Given the description of an element on the screen output the (x, y) to click on. 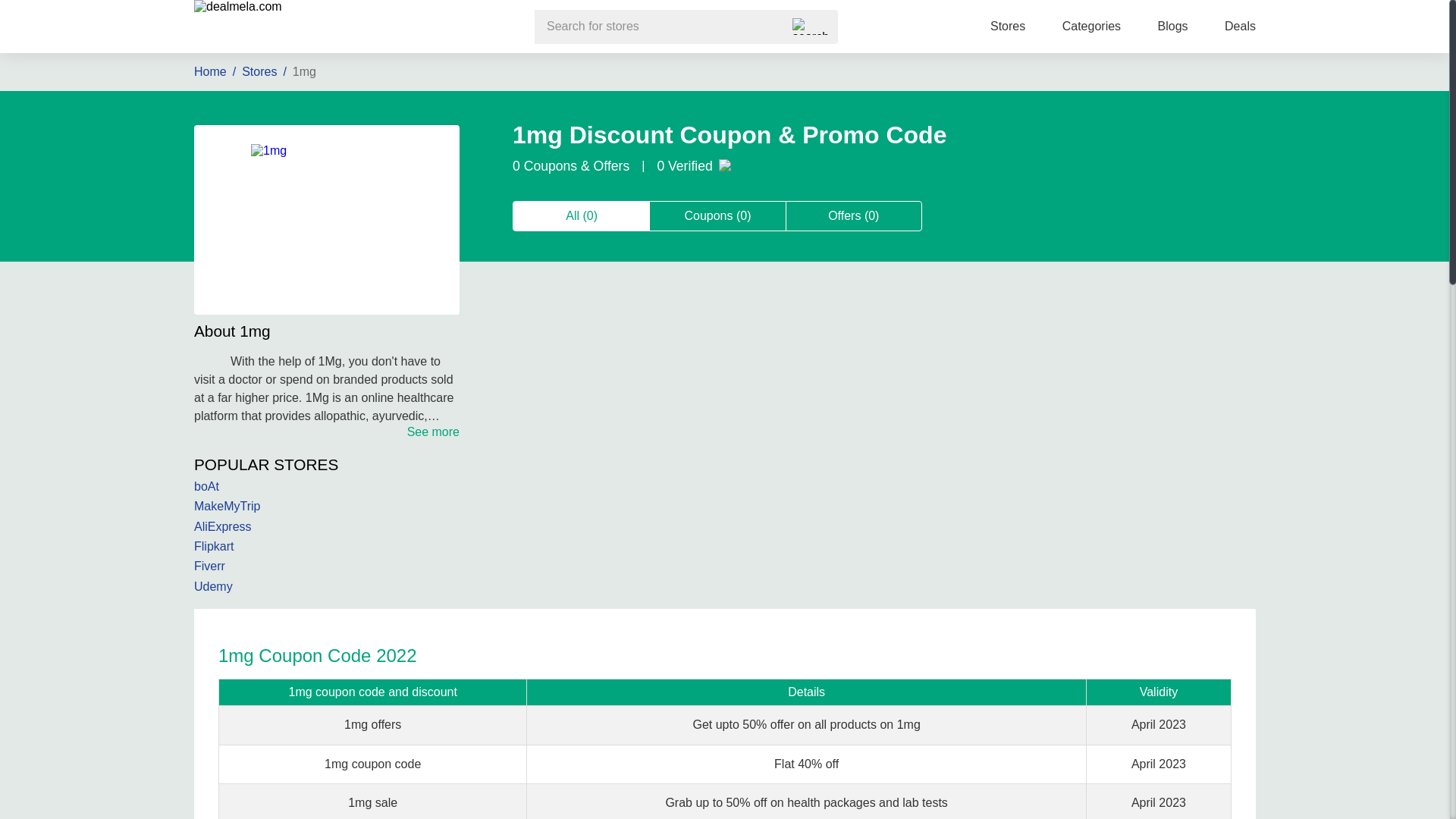
Stores (1007, 26)
Blogs (1172, 26)
Flipkart (326, 546)
boAt (326, 486)
Deals (1239, 26)
MakeMyTrip (326, 506)
Udemy (326, 586)
See more (433, 431)
Home (214, 71)
Categories (1091, 26)
